Given the description of an element on the screen output the (x, y) to click on. 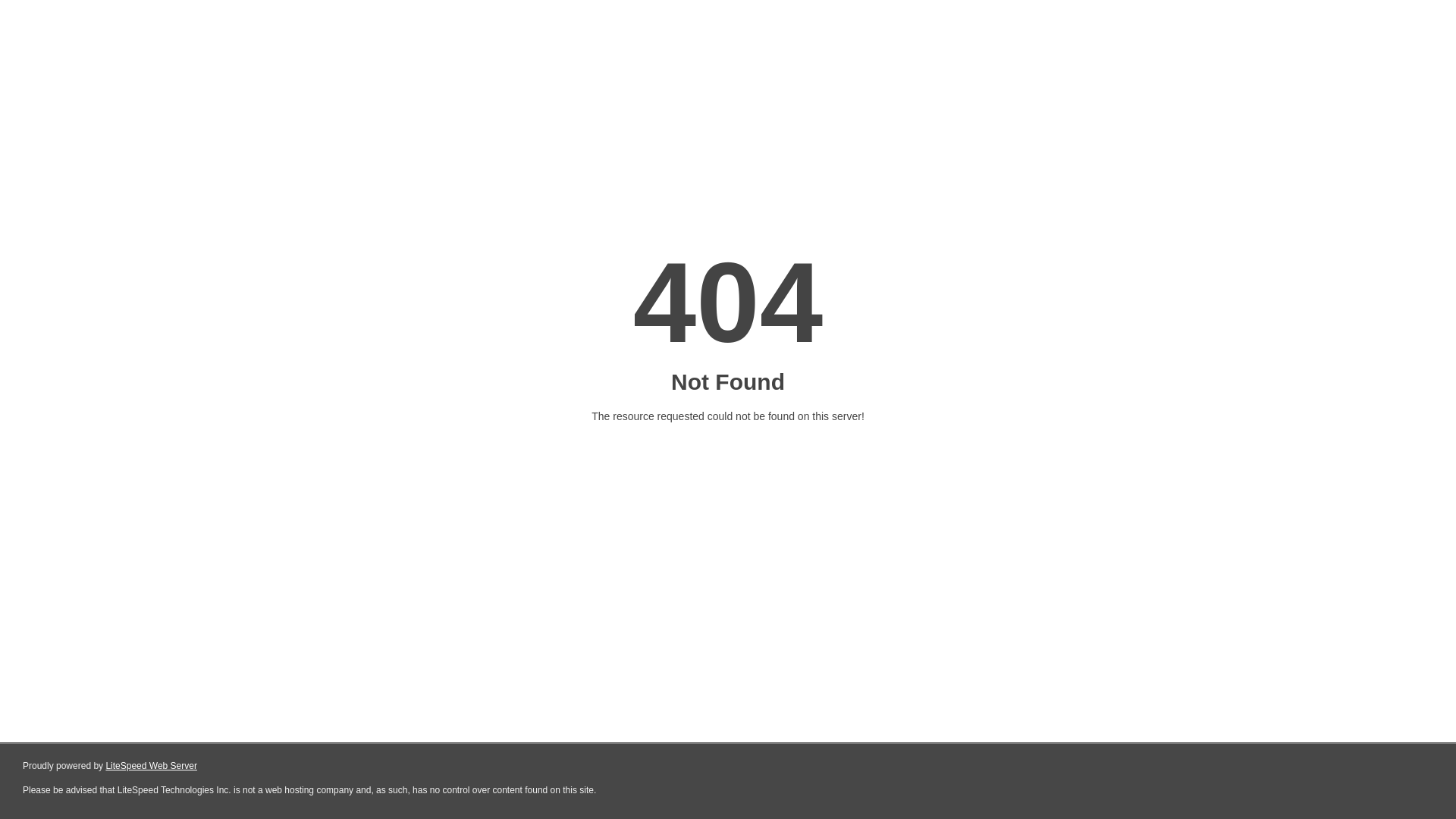
LiteSpeed Web Server Element type: text (151, 765)
